Given the description of an element on the screen output the (x, y) to click on. 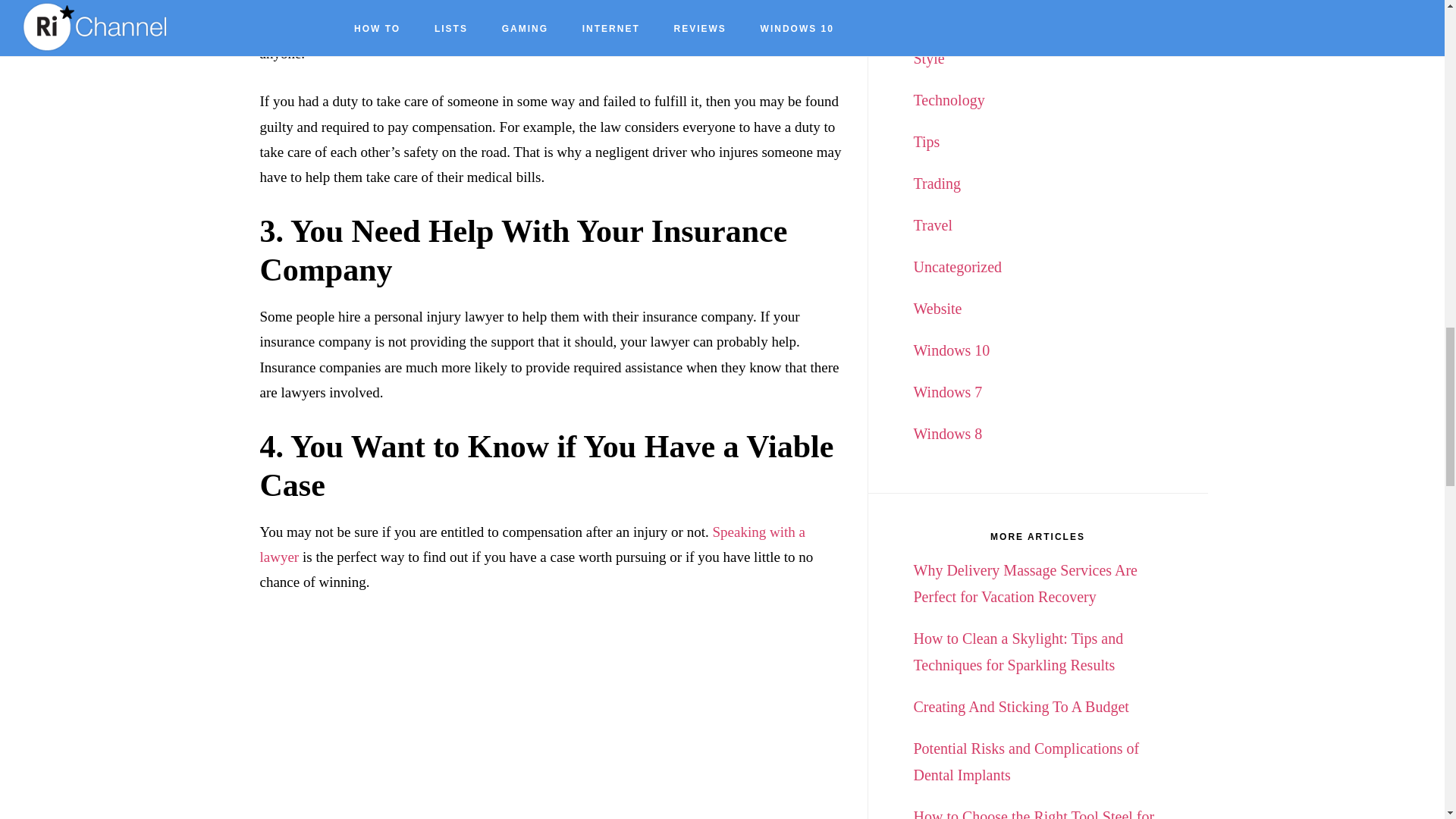
Speaking with a lawyer (532, 544)
